Given the description of an element on the screen output the (x, y) to click on. 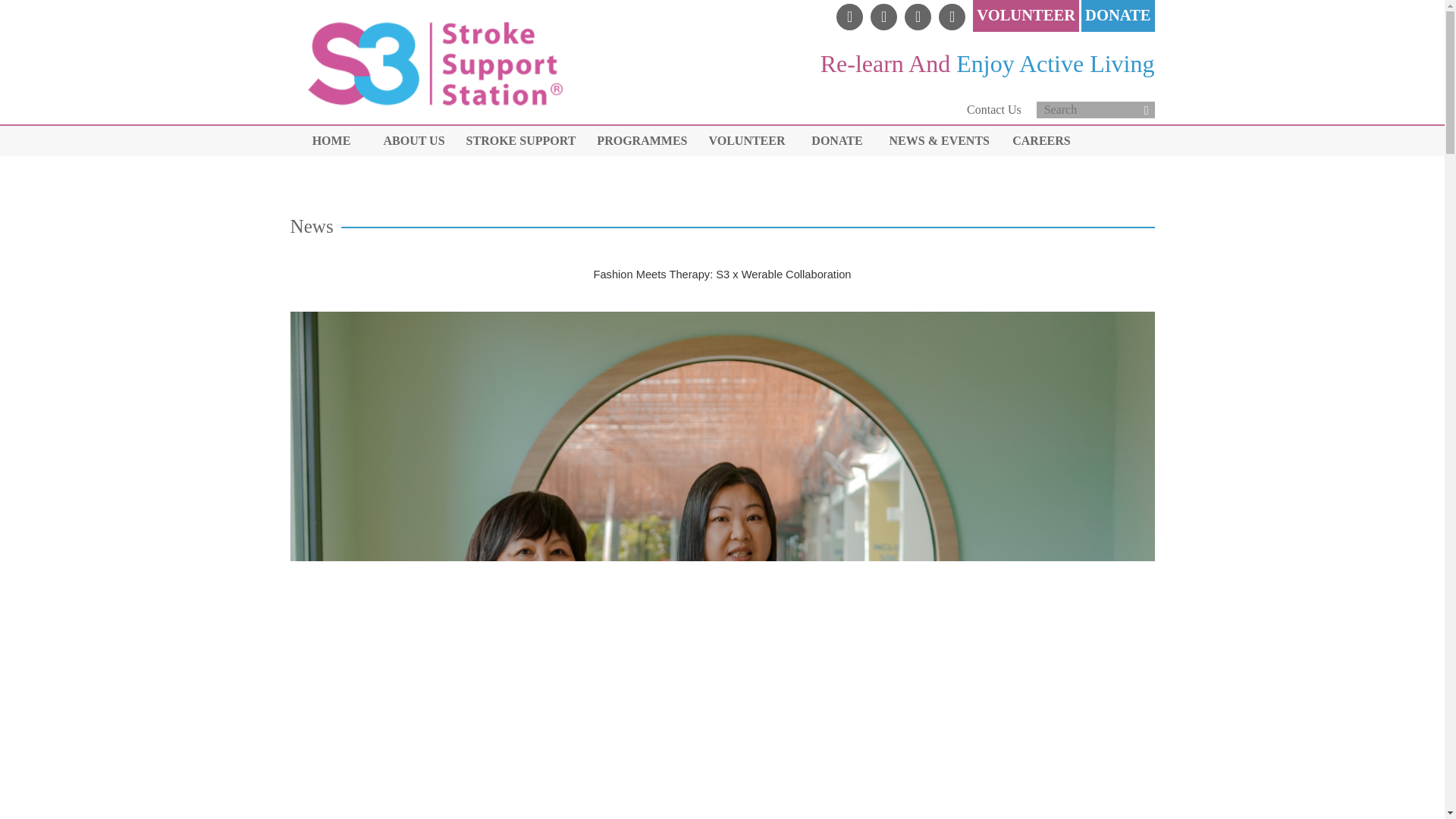
Contact Us (994, 109)
VOLUNTEER (745, 141)
STROKE SUPPORT (520, 141)
PROGRAMMES (641, 141)
HOME (330, 141)
ABOUT US (413, 141)
VOLUNTEER (1025, 15)
DONATE (837, 141)
DONATE (1117, 15)
CAREERS (1041, 141)
